Given the description of an element on the screen output the (x, y) to click on. 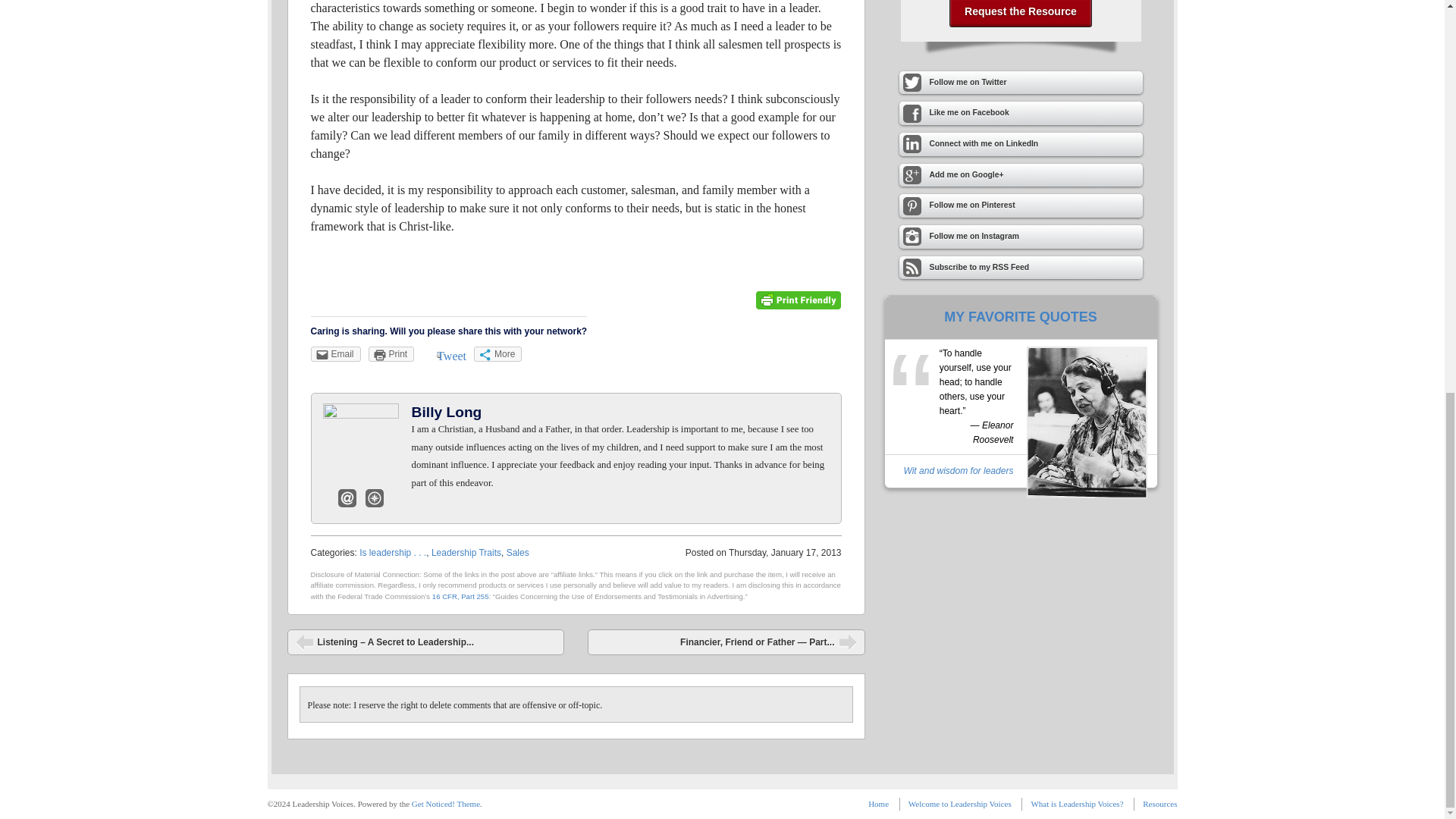
Request the Resource (1021, 13)
Email (336, 353)
Click to email this to a friend (336, 353)
Click to print (391, 353)
View all posts by Billy Long (446, 412)
Email (346, 497)
Print (391, 353)
More (497, 353)
Tweet (450, 355)
